Given the description of an element on the screen output the (x, y) to click on. 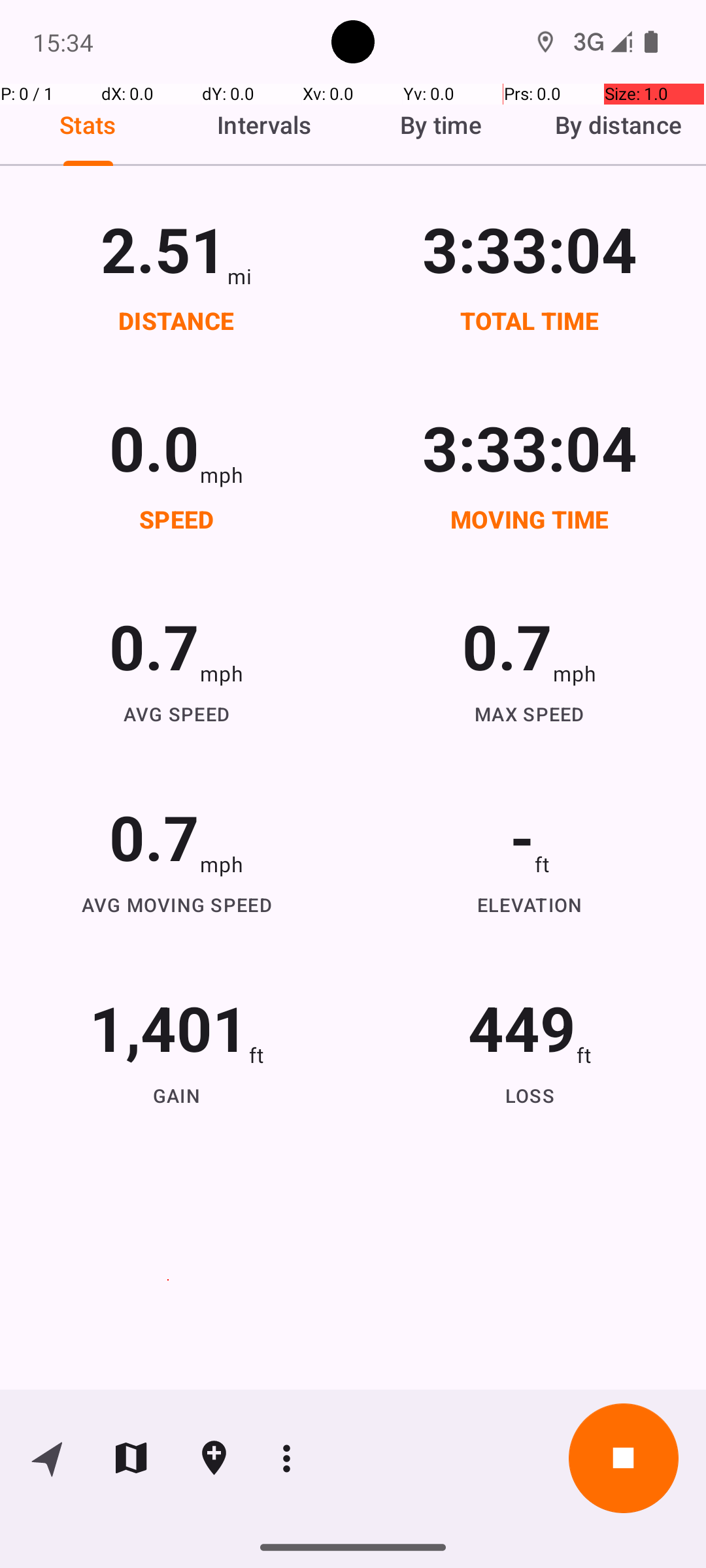
Insert marker Element type: android.widget.Button (213, 1458)
Stop Element type: android.widget.ImageButton (623, 1458)
2.51 Element type: android.widget.TextView (163, 248)
mi Element type: android.widget.TextView (239, 275)
3:33:04 Element type: android.widget.TextView (529, 248)
TOTAL TIME Element type: android.widget.TextView (529, 320)
0.0 Element type: android.widget.TextView (154, 446)
mph Element type: android.widget.TextView (221, 474)
SPEED Element type: android.widget.TextView (176, 518)
MOVING TIME Element type: android.widget.TextView (529, 518)
0.7 Element type: android.widget.TextView (154, 645)
AVG SPEED Element type: android.widget.TextView (176, 713)
MAX SPEED Element type: android.widget.TextView (529, 713)
AVG MOVING SPEED Element type: android.widget.TextView (176, 904)
- Element type: android.widget.TextView (521, 836)
ft Element type: android.widget.TextView (541, 863)
ELEVATION Element type: android.widget.TextView (529, 904)
1,401 Element type: android.widget.TextView (168, 1026)
GAIN Element type: android.widget.TextView (176, 1095)
449 Element type: android.widget.TextView (521, 1026)
LOSS Element type: android.widget.TextView (529, 1095)
